Given the description of an element on the screen output the (x, y) to click on. 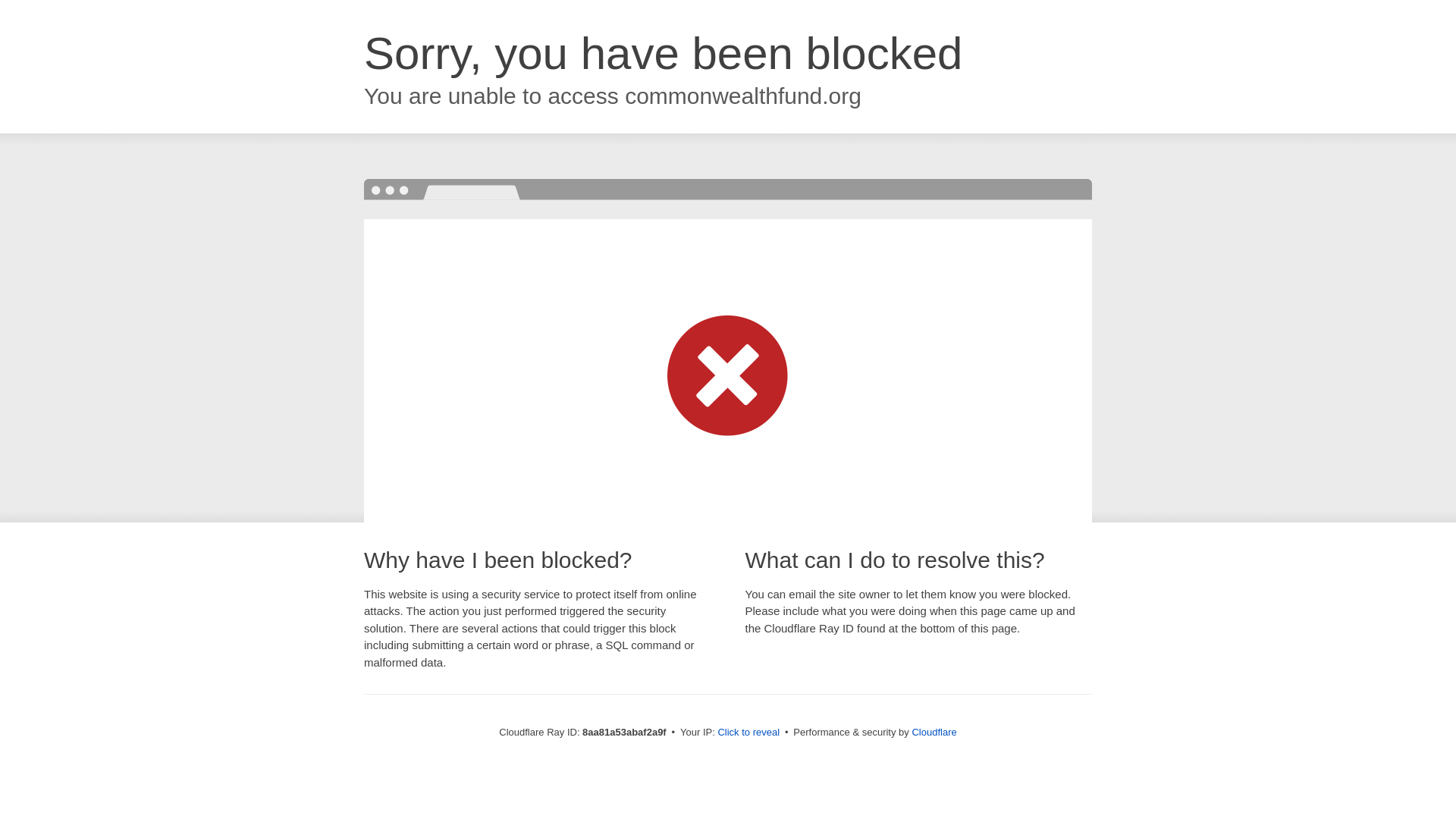
Click to reveal (747, 732)
Cloudflare (933, 731)
